Given the description of an element on the screen output the (x, y) to click on. 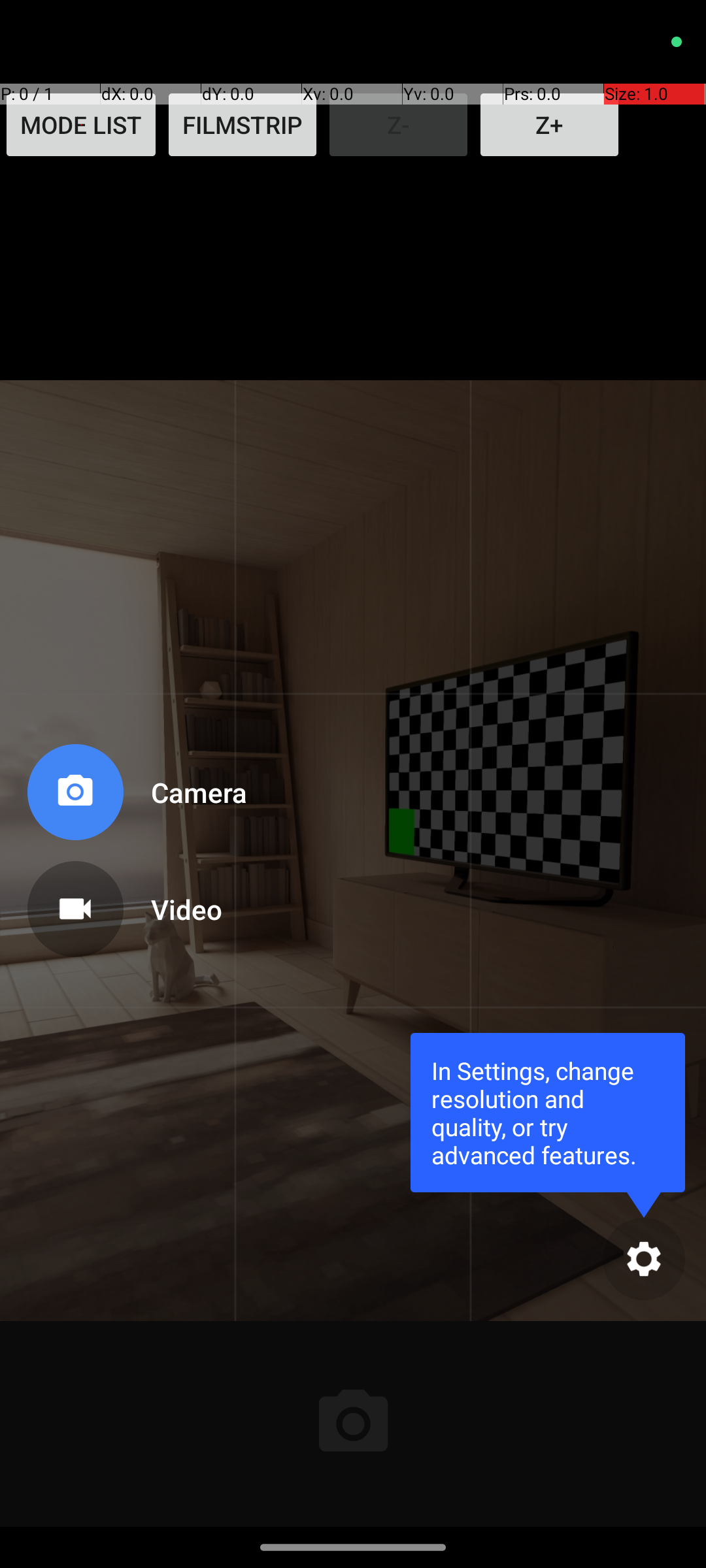
Switch to Camera Mode Element type: android.widget.FrameLayout (134, 797)
Switch to Video Camera Element type: android.widget.FrameLayout (134, 903)
In Settings, change resolution and quality, or try advanced features. Element type: android.widget.TextView (547, 1112)
Settings Element type: android.widget.ImageView (643, 1258)
MODE LIST Element type: android.widget.Button (81, 124)
FILMSTRIP Element type: android.widget.Button (242, 124)
Z- Element type: android.widget.Button (397, 124)
Z+ Element type: android.widget.Button (548, 124)
Camera Element type: android.widget.TextView (185, 792)
Video Element type: android.widget.TextView (185, 909)
